Given the description of an element on the screen output the (x, y) to click on. 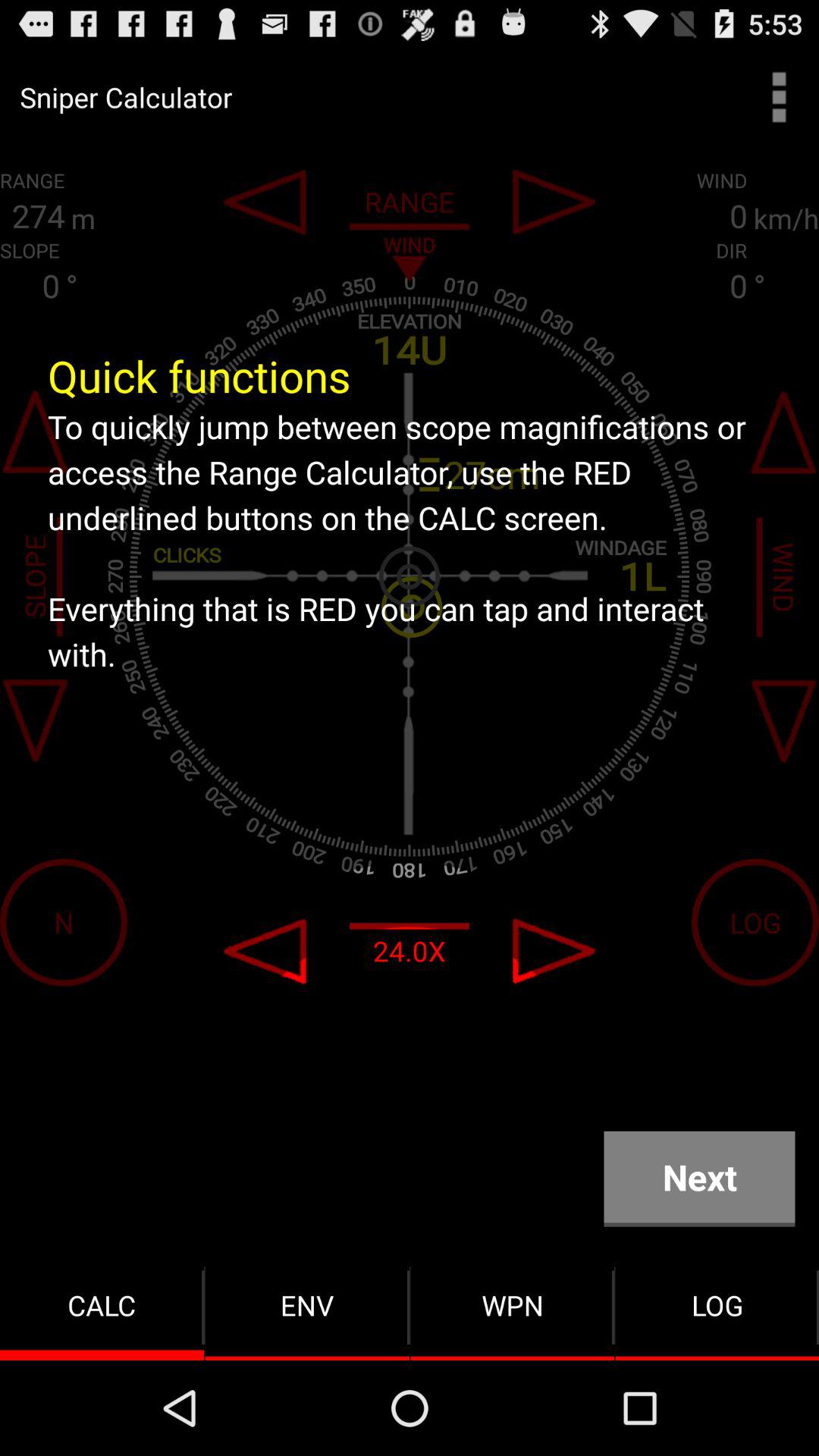
scroll to the 24.0x icon (409, 950)
